Given the description of an element on the screen output the (x, y) to click on. 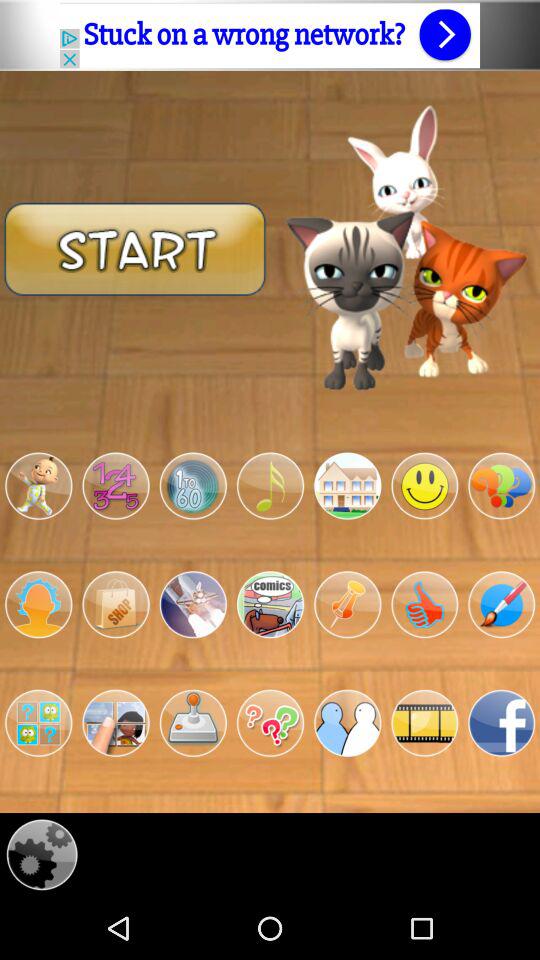
image option to play (192, 604)
